Given the description of an element on the screen output the (x, y) to click on. 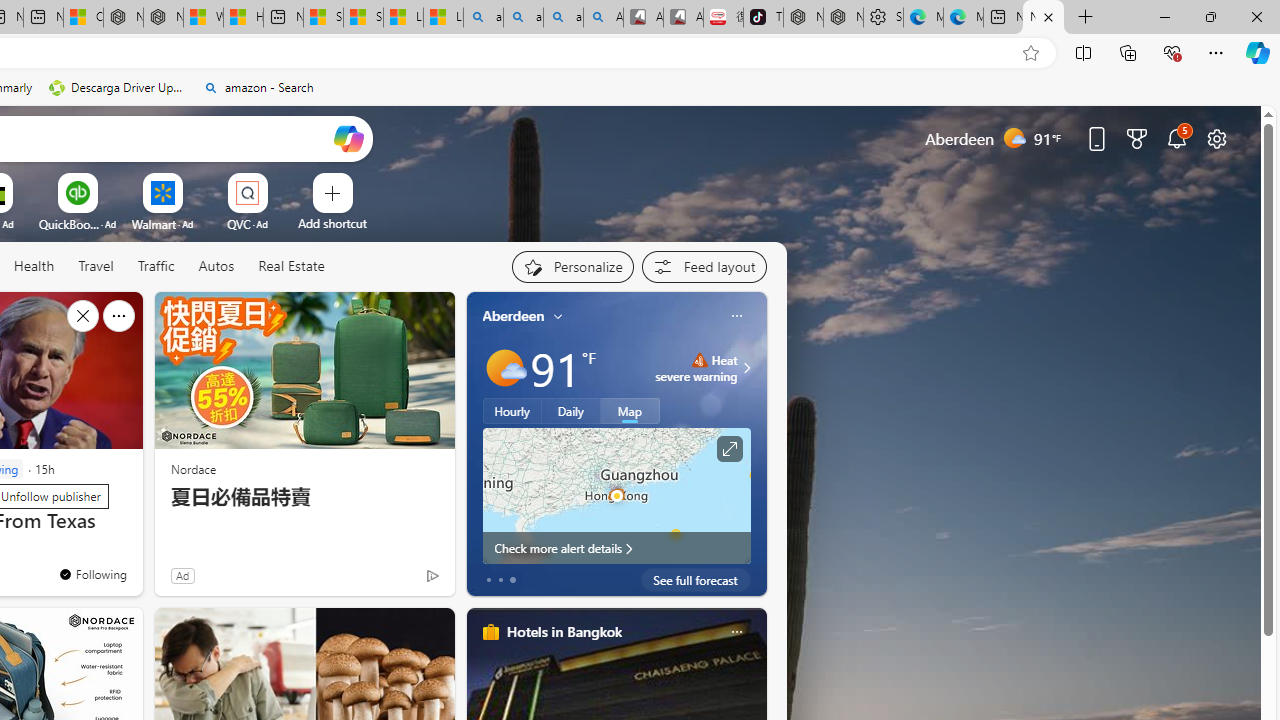
You're following Newsweek (92, 573)
Map (630, 411)
Daily (571, 411)
Autos (215, 265)
tab-2 (511, 579)
TikTok (763, 17)
Hotels in Bangkok (563, 631)
